Given the description of an element on the screen output the (x, y) to click on. 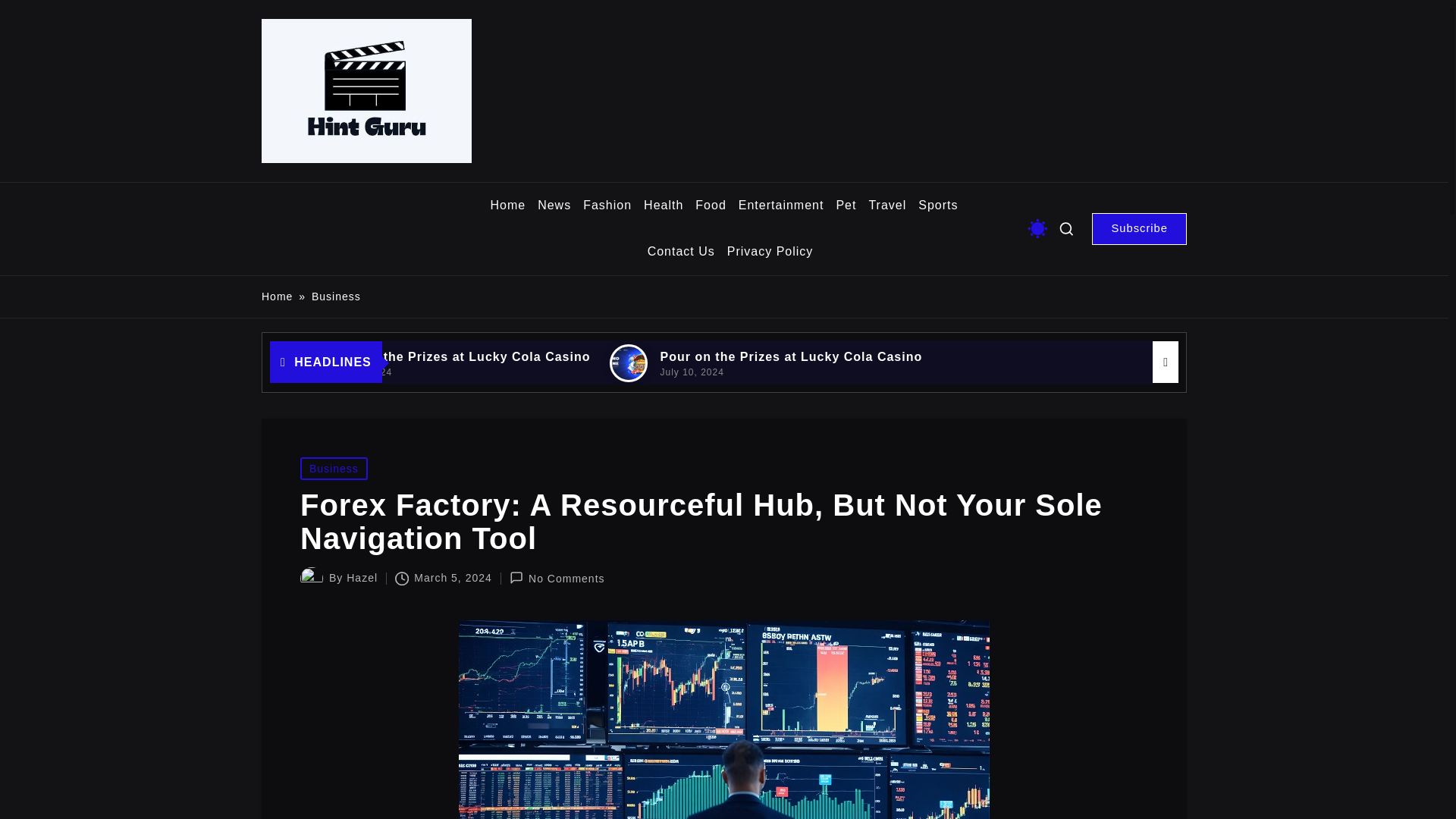
Business (333, 468)
Contact Us (680, 252)
Hazel (361, 577)
View all posts by Hazel (361, 577)
Fashion (607, 205)
Pour on the Prizes at Lucky Cola Casino (538, 356)
Home (277, 296)
Entertainment (781, 205)
Pour on the Prizes at Lucky Cola Casino (867, 356)
Subscribe (1139, 228)
No Comments (557, 577)
Business (336, 296)
Privacy Policy (769, 252)
